Given the description of an element on the screen output the (x, y) to click on. 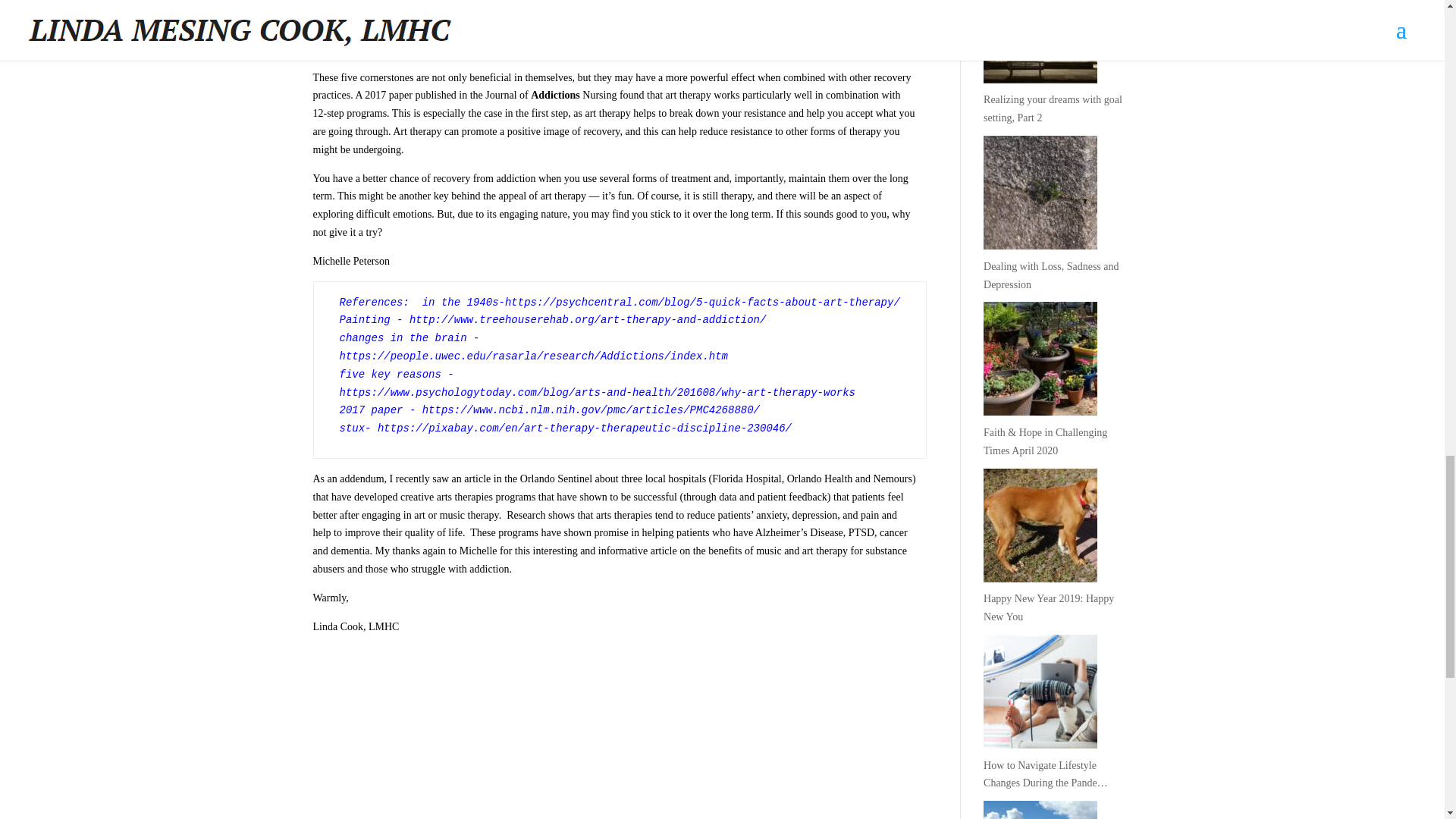
Realizing your dreams with goal setting, Part 2 (1057, 117)
Happy New Year 2019: Happy New You (1057, 616)
Dealing with Loss, Sadness and Depression (1057, 284)
